Given the description of an element on the screen output the (x, y) to click on. 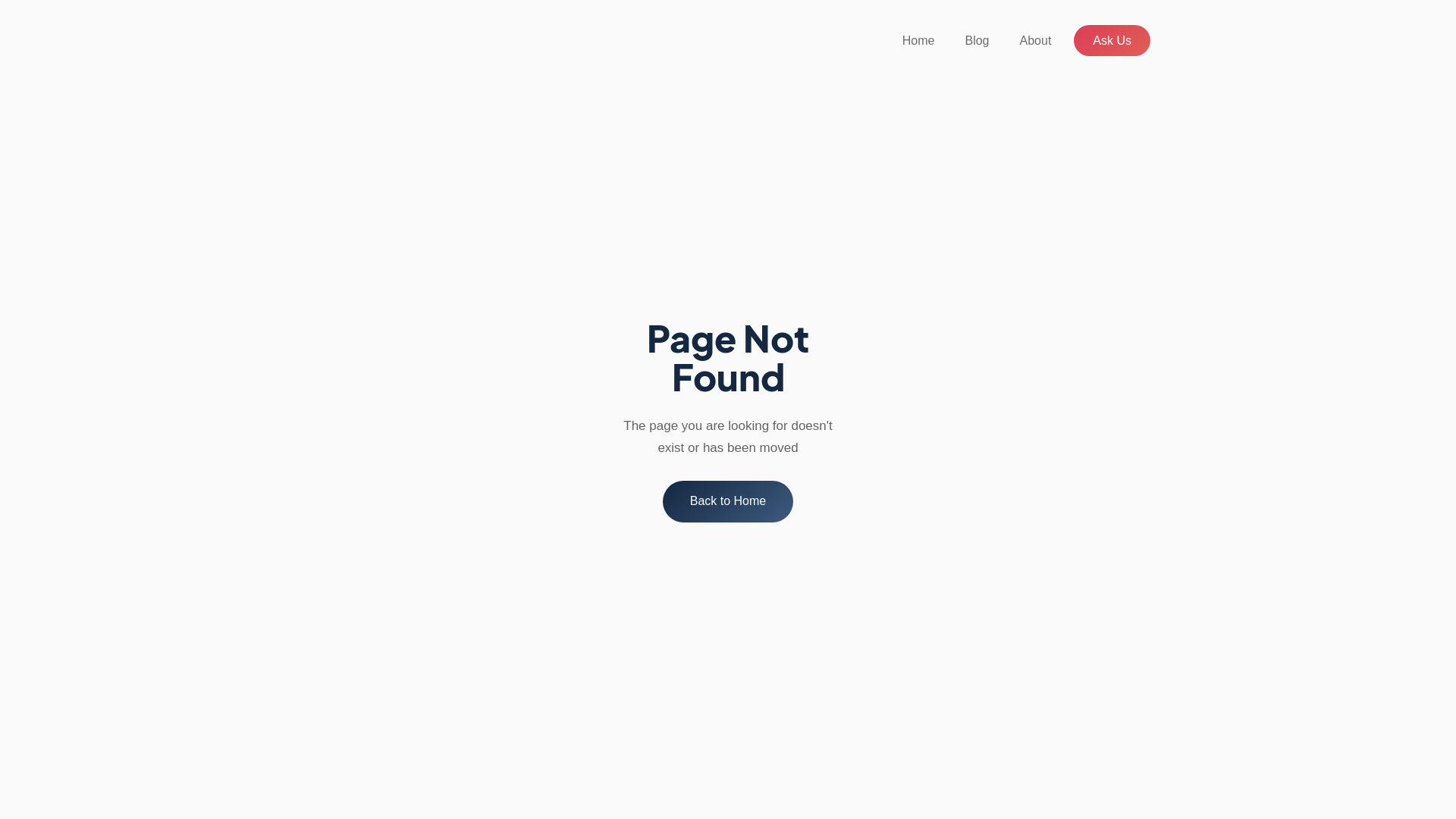
About Element type: text (1035, 40)
Blog Element type: text (976, 40)
Back to Home Element type: text (727, 501)
Home Element type: text (918, 40)
Ask Us Element type: text (1111, 40)
